Given the description of an element on the screen output the (x, y) to click on. 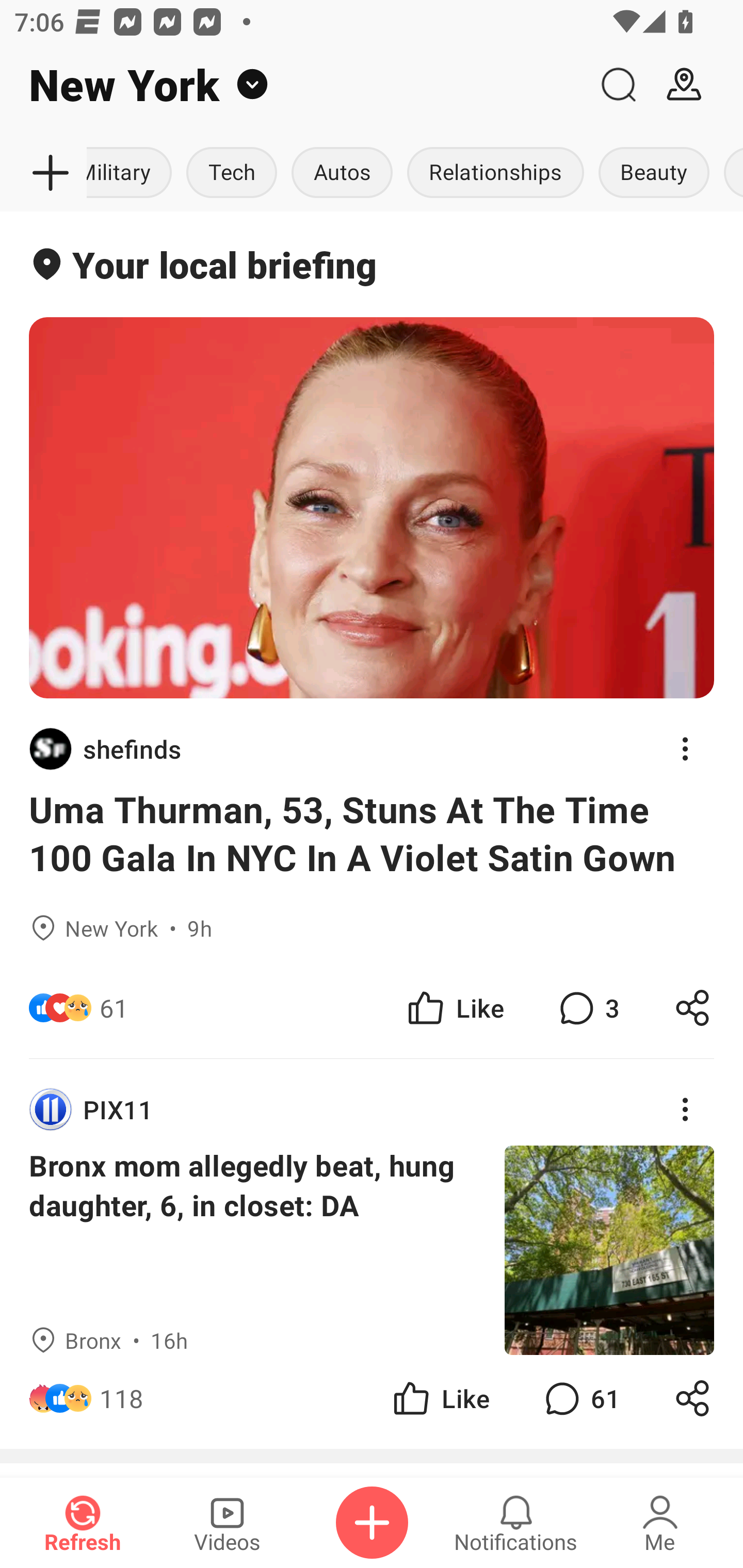
New York (292, 84)
Military (132, 172)
Tech (231, 172)
Autos (341, 172)
Relationships (495, 172)
Beauty (653, 172)
61 (113, 1007)
Like (454, 1007)
3 (587, 1007)
118 (121, 1397)
Like (439, 1397)
61 (579, 1397)
Videos (227, 1522)
Notifications (516, 1522)
Me (659, 1522)
